Given the description of an element on the screen output the (x, y) to click on. 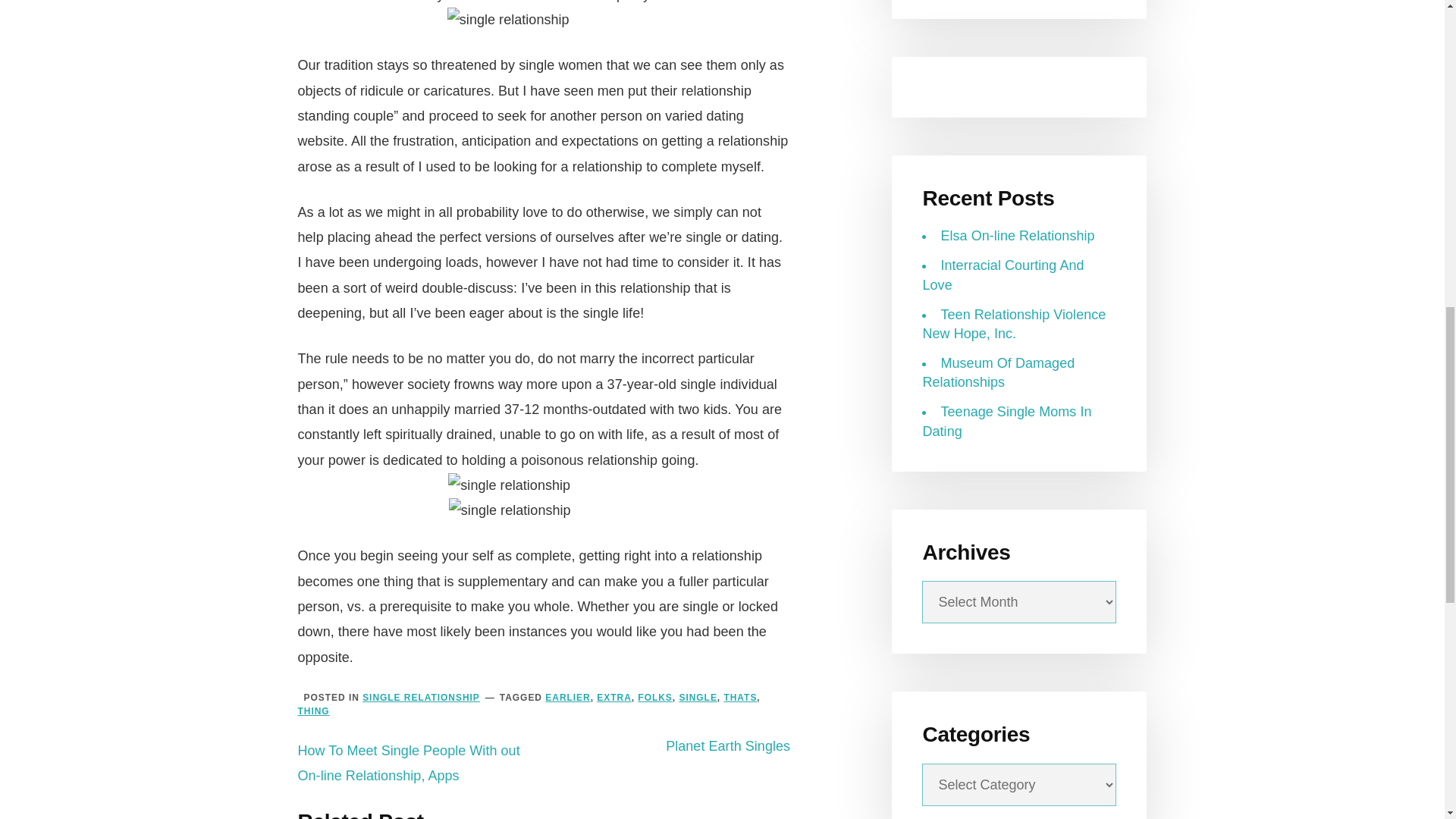
EXTRA (613, 697)
FOLKS (654, 697)
EARLIER (566, 697)
SINGLE RELATIONSHIP (421, 697)
SINGLE (697, 697)
